Given the description of an element on the screen output the (x, y) to click on. 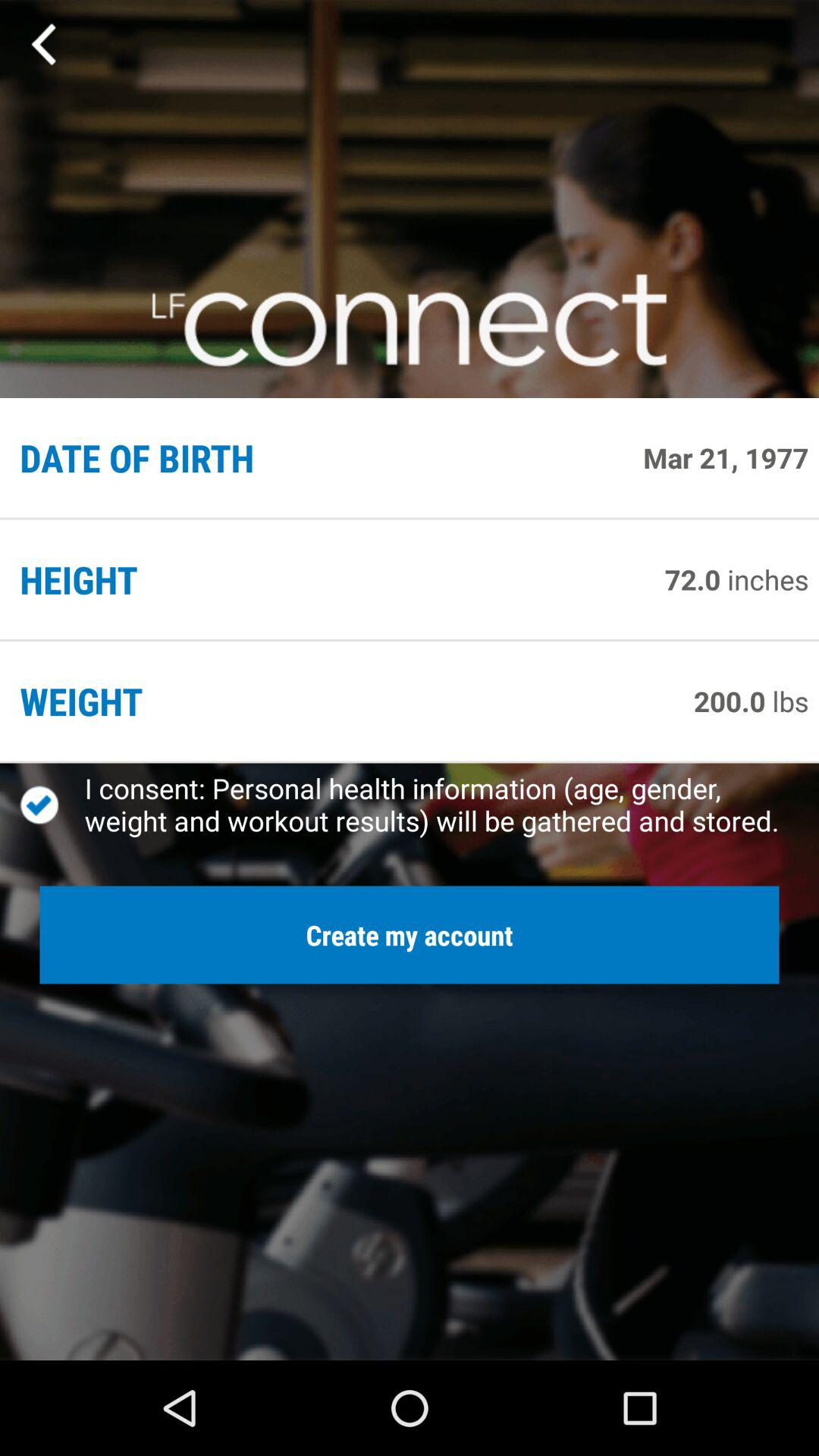
turn on the icon next to the i consent personal item (51, 804)
